Given the description of an element on the screen output the (x, y) to click on. 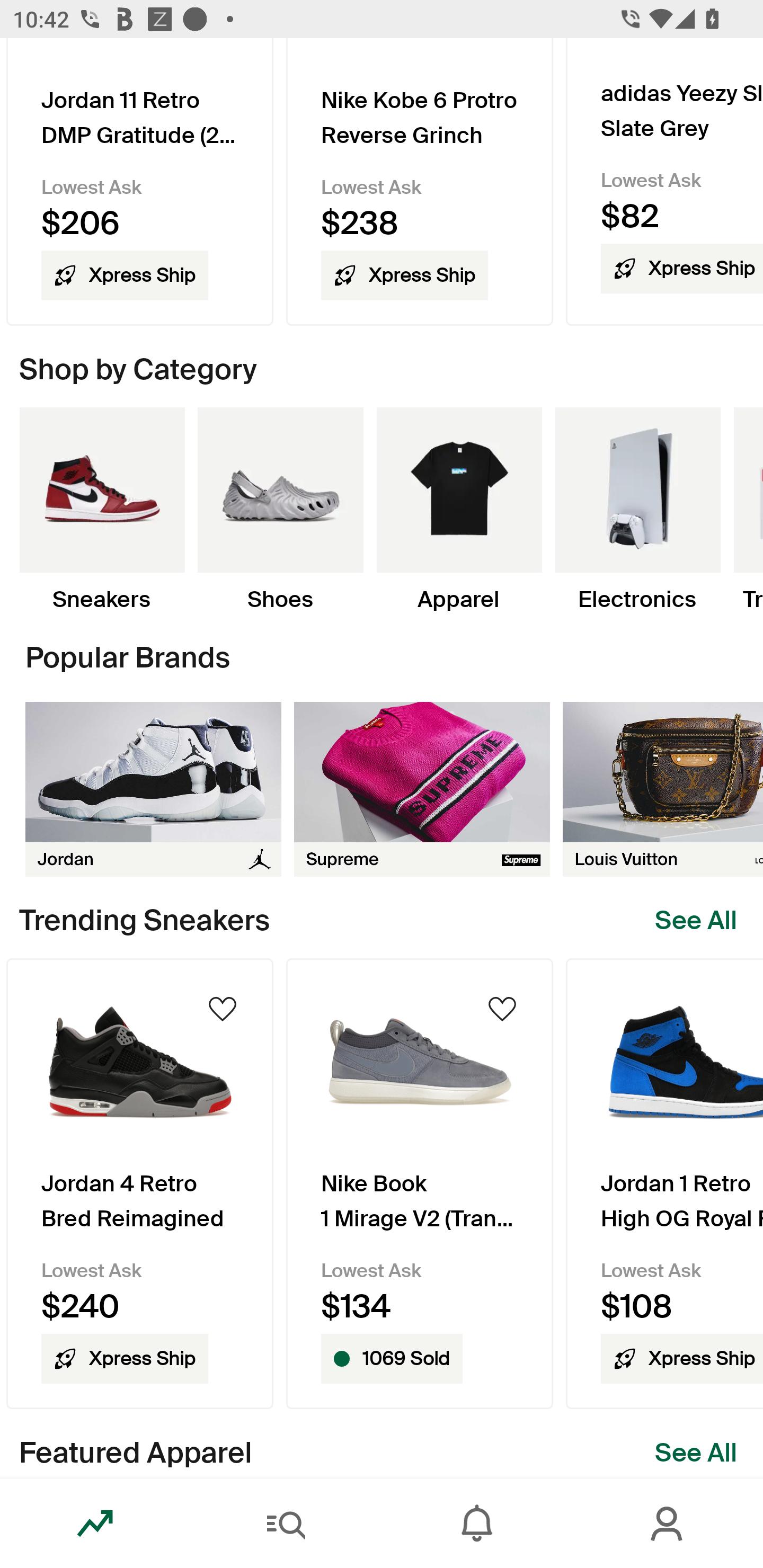
Product Image Sneakers (101, 510)
Product Image Shoes (280, 510)
Product Image Apparel (458, 510)
Product Image Electronics (637, 510)
jordan.jpg (153, 789)
supreme.jpg (421, 789)
lv.jpg (663, 789)
See All (695, 920)
See All (695, 1452)
Search (285, 1523)
Inbox (476, 1523)
Account (667, 1523)
